Given the description of an element on the screen output the (x, y) to click on. 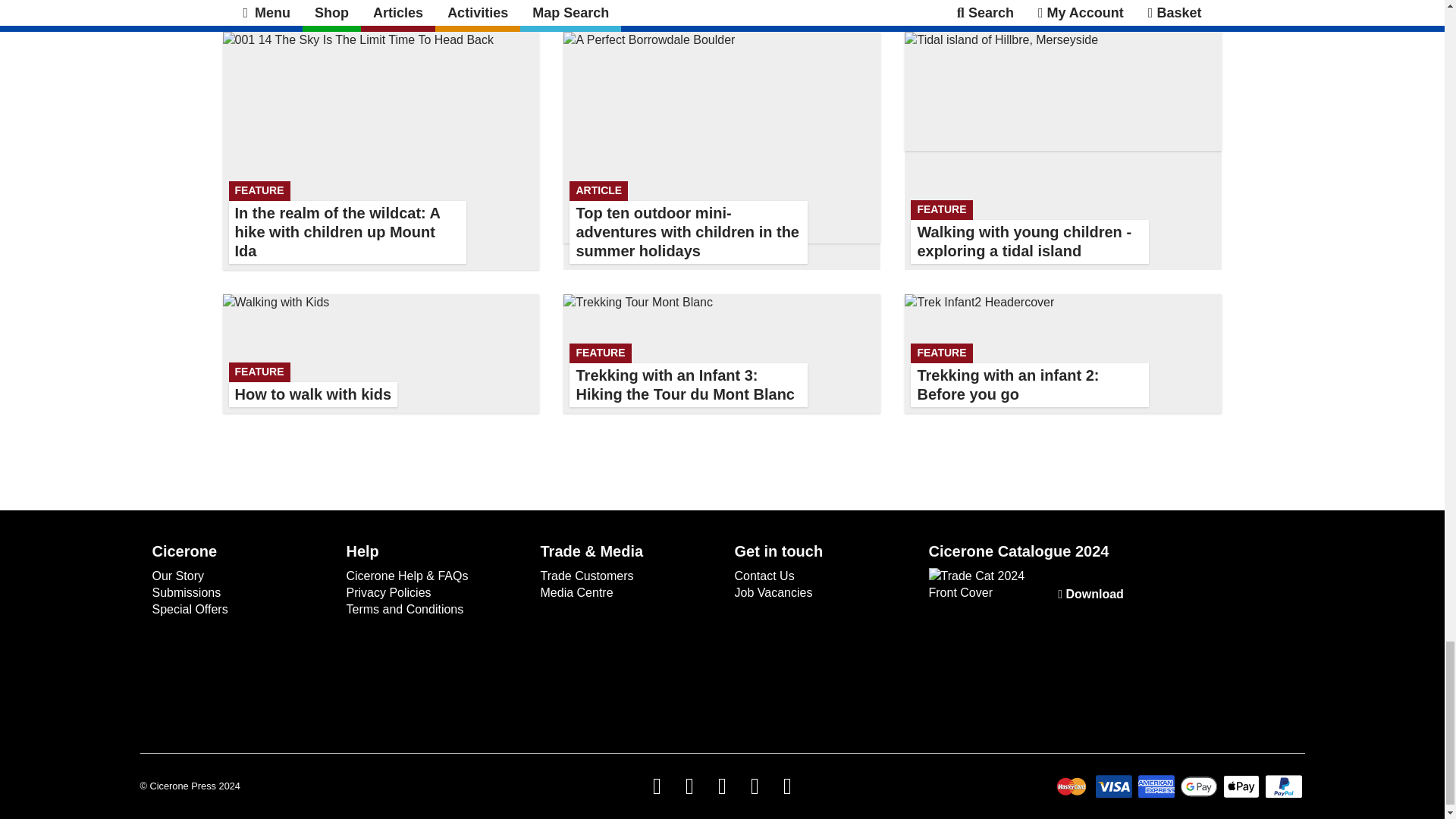
Our Story (1062, 353)
